Given the description of an element on the screen output the (x, y) to click on. 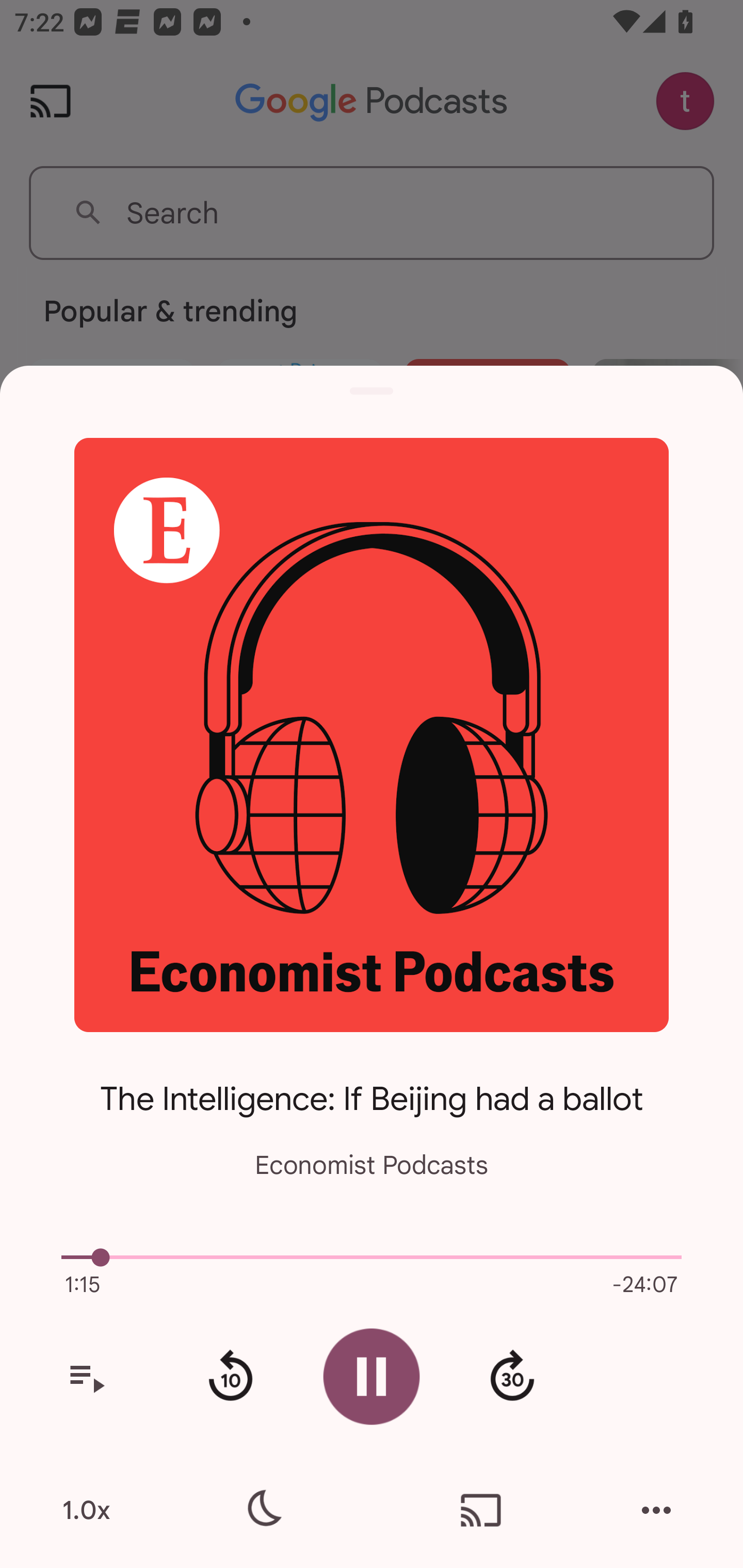
Open the show page for Economist Podcasts (371, 734)
495.0 Current episode playback (371, 1257)
Pause (371, 1376)
View your queue (86, 1376)
Rewind 10 seconds (230, 1376)
Fast forward 30 second (511, 1376)
1.0x Playback speed is 1.0. (86, 1510)
Sleep timer settings (261, 1510)
Cast. Disconnected (480, 1510)
More actions (655, 1510)
